Given the description of an element on the screen output the (x, y) to click on. 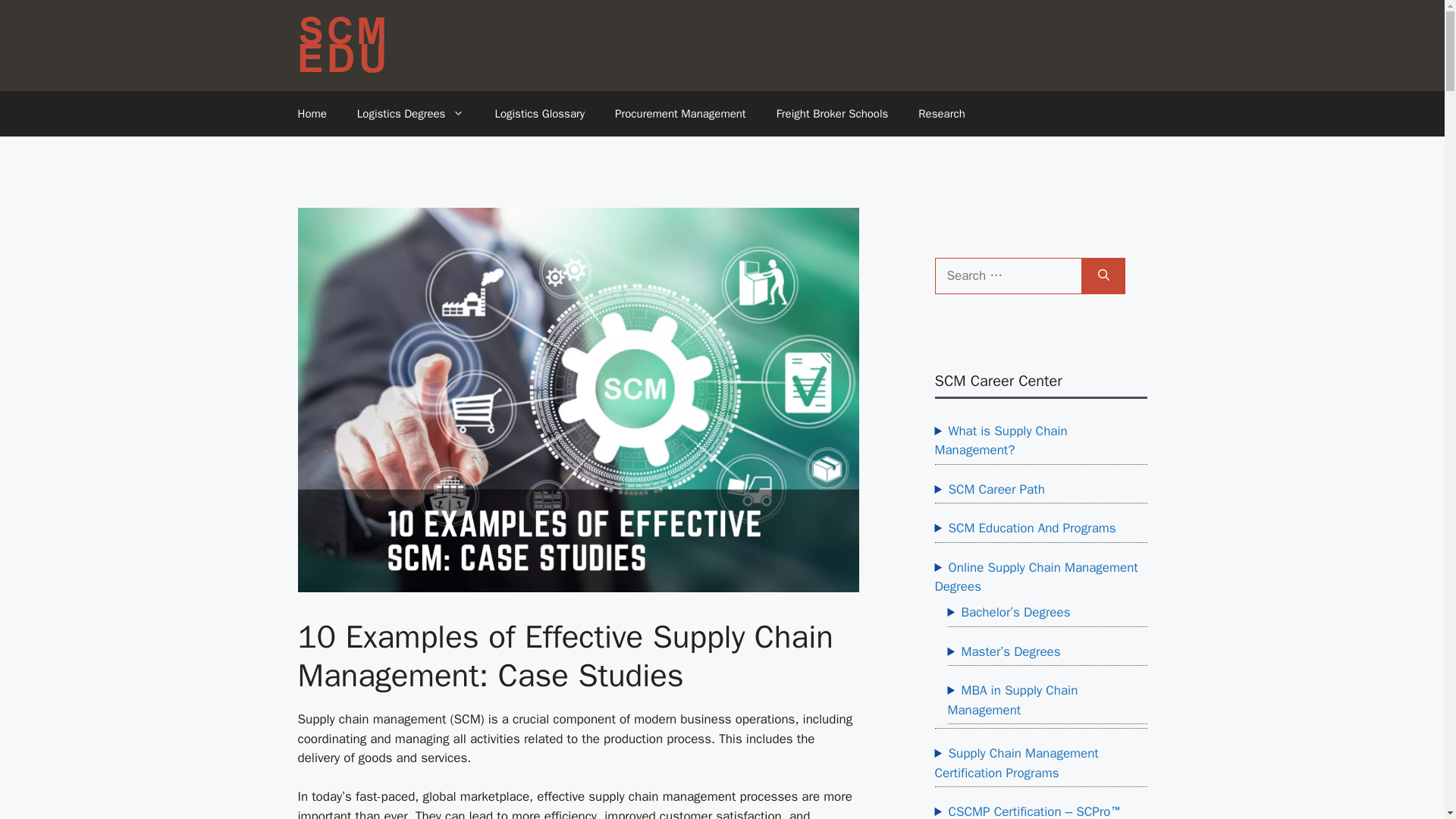
Search for: (1007, 275)
Logistics Degrees (411, 113)
Home (311, 113)
